Given the description of an element on the screen output the (x, y) to click on. 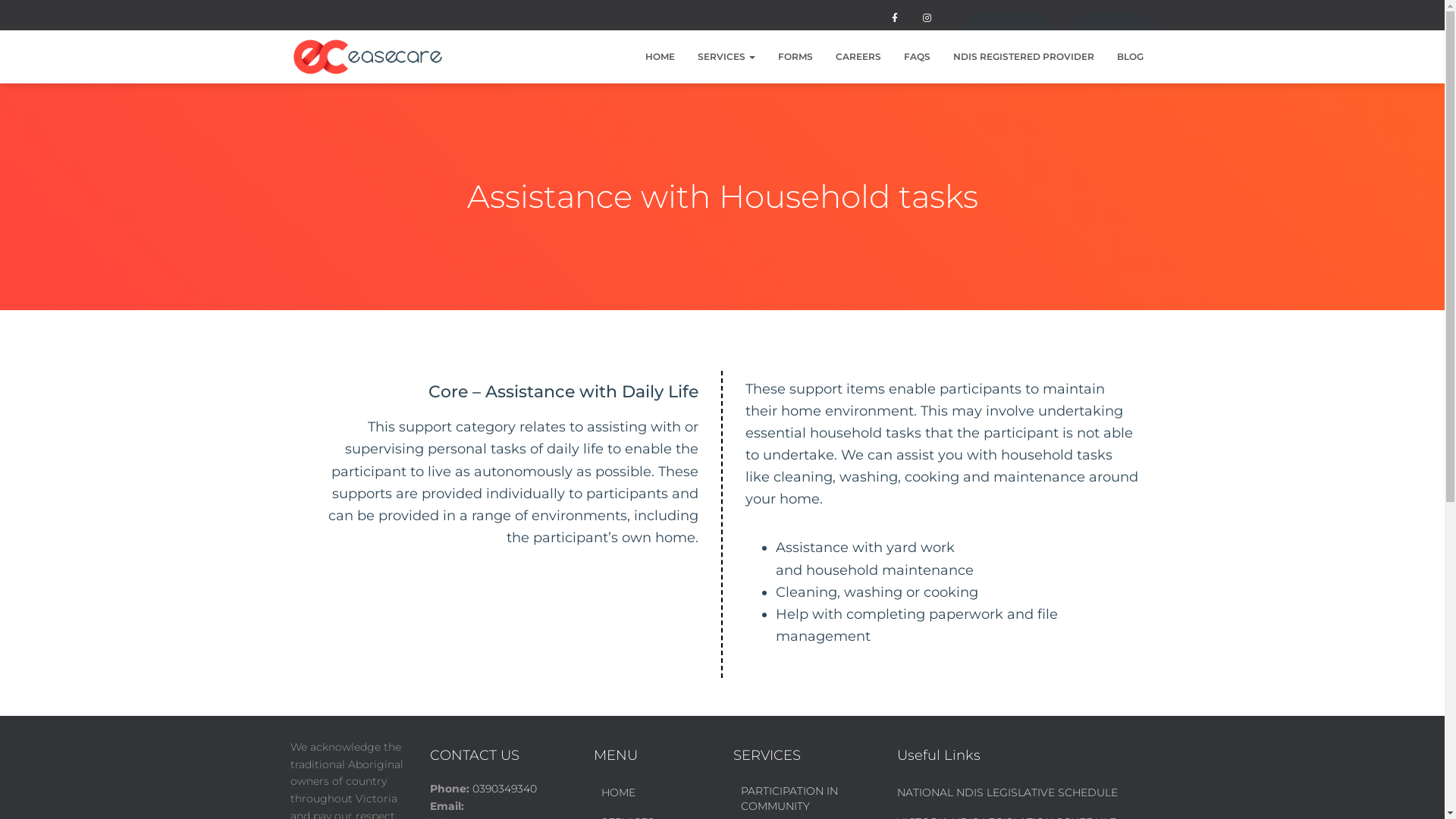
NATIONAL NDIS LEGISLATIVE SCHEDULE Element type: text (1006, 792)
FORMS Element type: text (794, 56)
0390349340 Element type: text (503, 788)
HOME Element type: text (659, 56)
CAREERS Element type: text (857, 56)
BLOG Element type: text (1129, 56)
Ease Care Disability Services Element type: hover (368, 56)
PARTICIPATION IN COMMUNITY Element type: text (795, 798)
HOME Element type: text (617, 792)
NDIS REGISTERED PROVIDER Element type: text (1023, 56)
FAQS Element type: text (916, 56)
Contact Us Element type: text (1111, 34)
0390349340 Element type: text (1007, 34)
SERVICES Element type: text (725, 56)
